Given the description of an element on the screen output the (x, y) to click on. 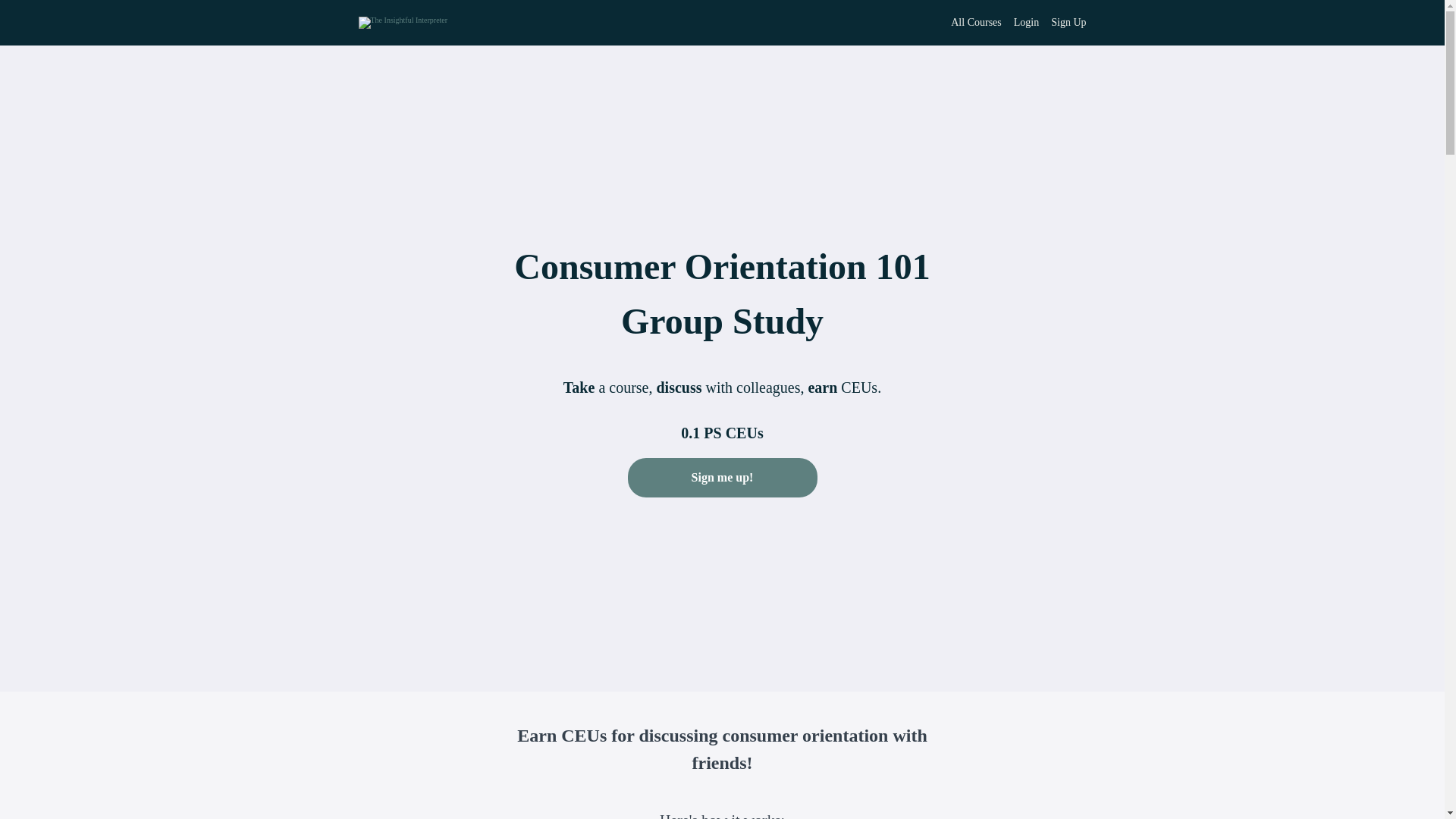
Login (1026, 22)
Sign me up! (721, 479)
Sign Up (1068, 22)
All Courses (975, 22)
Sign me up! (721, 477)
